Given the description of an element on the screen output the (x, y) to click on. 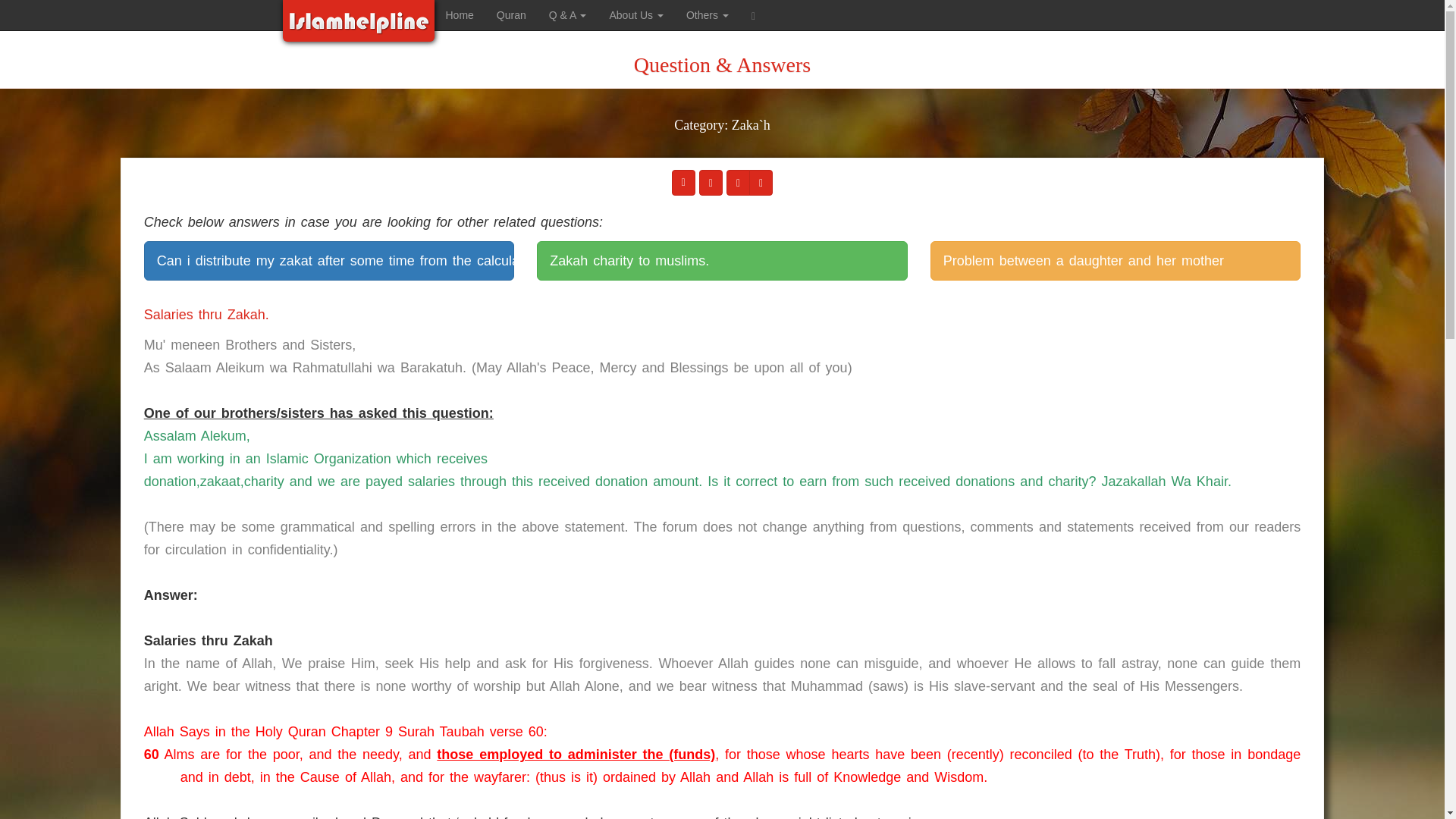
Zakah charity to muslims. (722, 260)
Home (458, 15)
Others (707, 15)
About Us (635, 15)
Quran (510, 15)
Problem between a daughter and her mother (1115, 260)
